Given the description of an element on the screen output the (x, y) to click on. 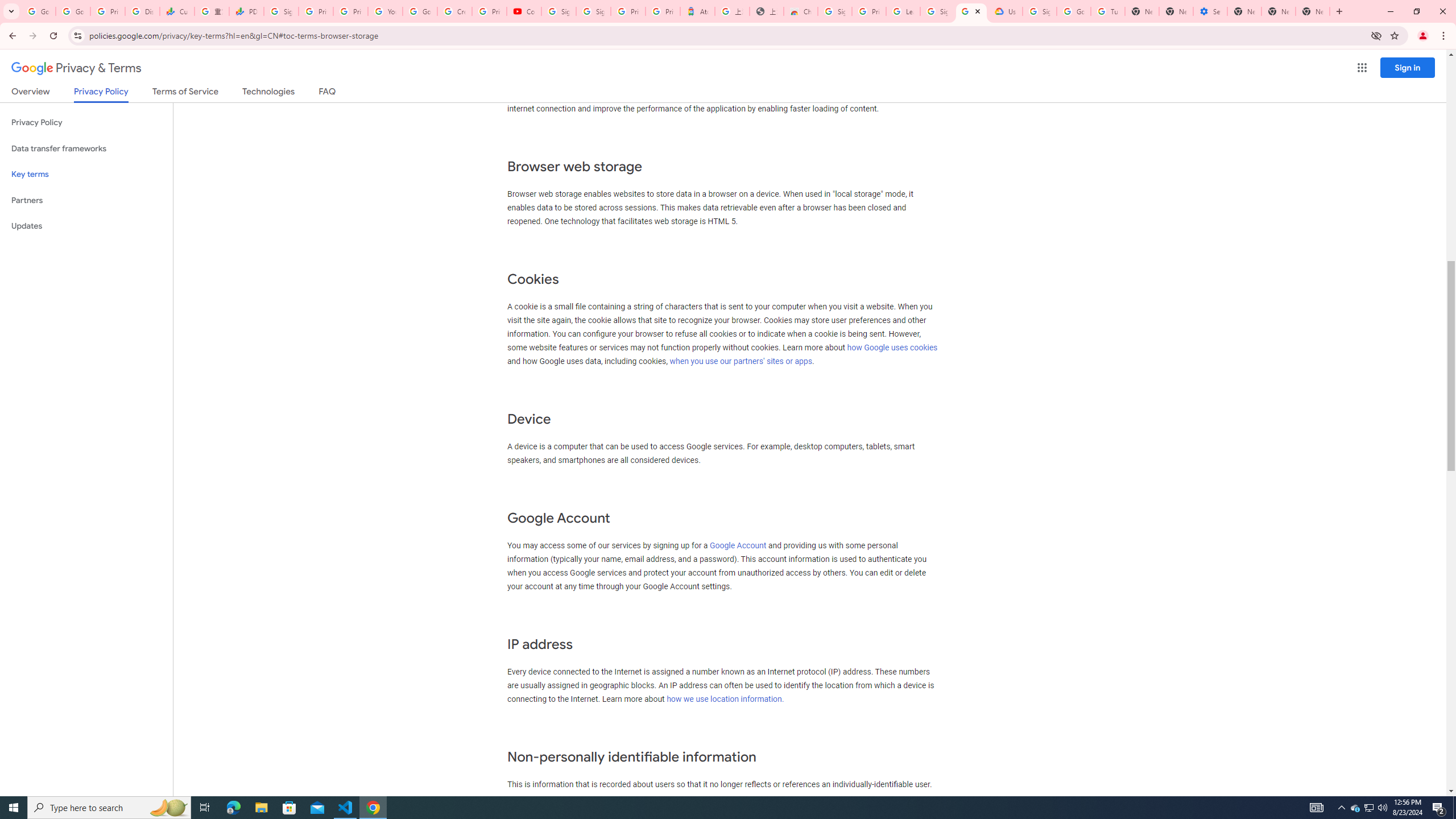
YouTube (384, 11)
Turn cookies on or off - Computer - Google Account Help (1107, 11)
Google Account Help (1073, 11)
Google Account Help (419, 11)
Atour Hotel - Google hotels (697, 11)
